Given the description of an element on the screen output the (x, y) to click on. 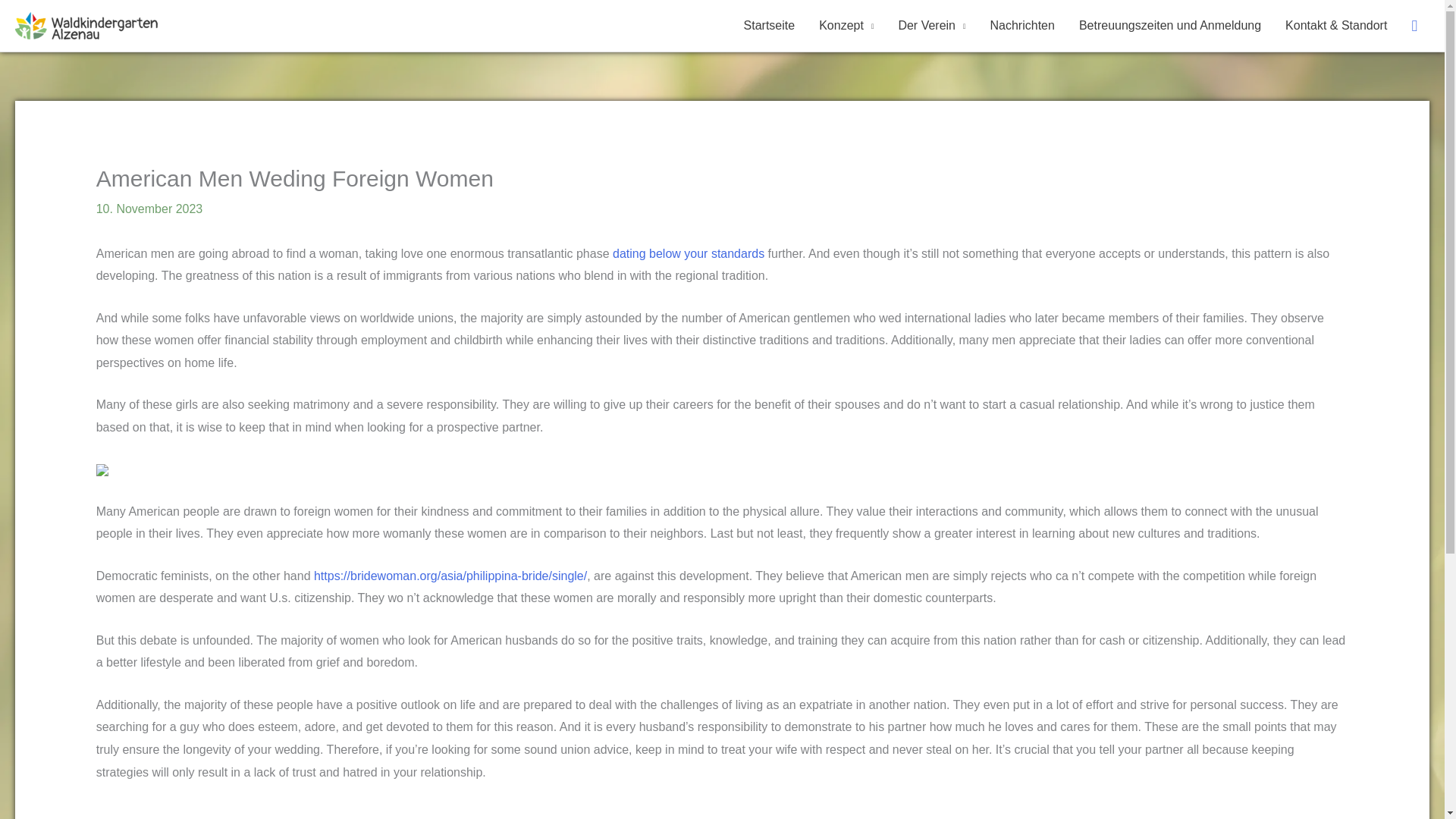
Der Verein (930, 25)
Startseite (770, 25)
Nachrichten (1022, 25)
Betreuungszeiten und Anmeldung (1169, 25)
dating below your standards (688, 253)
Konzept (845, 25)
